Given the description of an element on the screen output the (x, y) to click on. 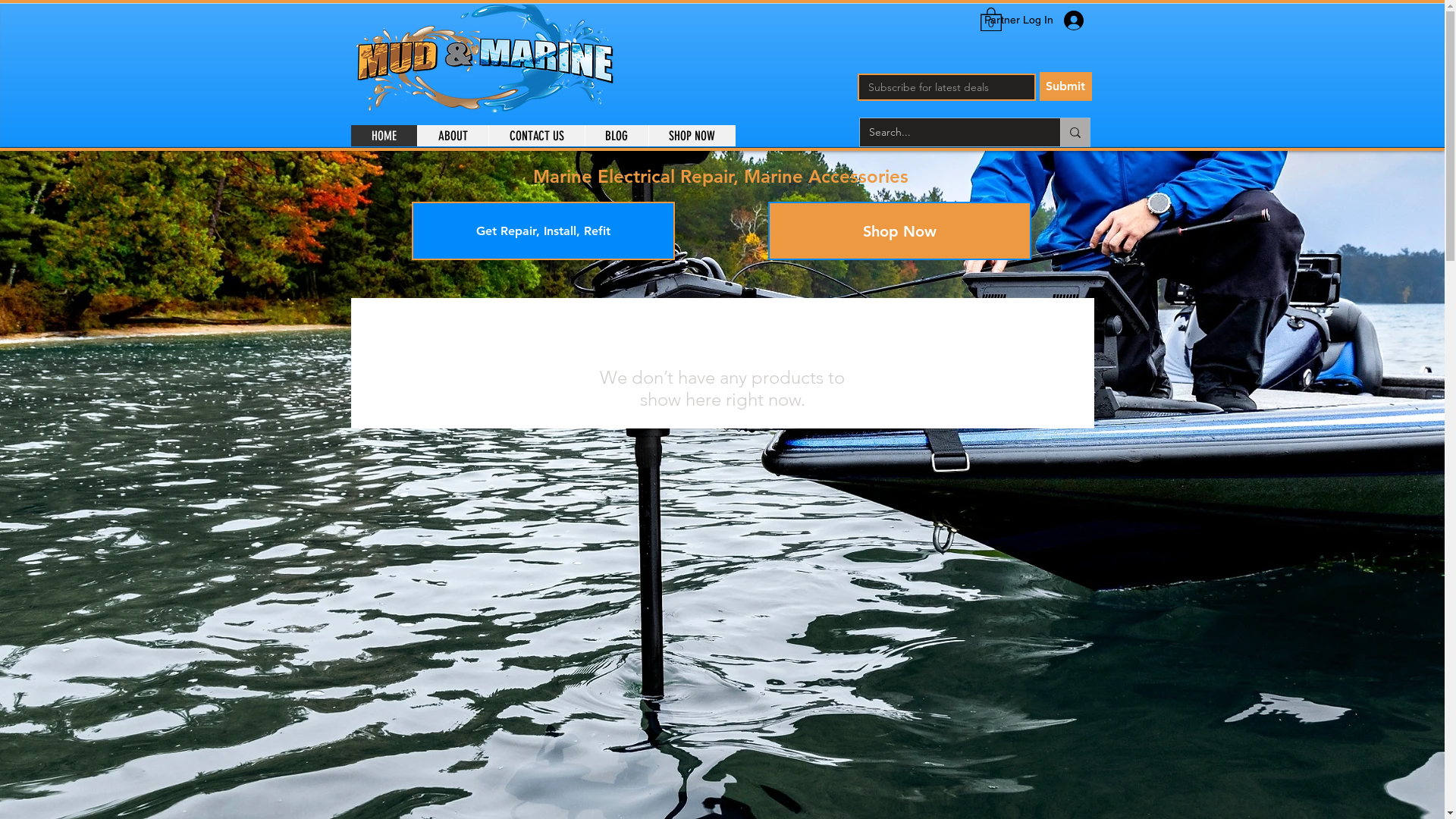
CONTACT US Element type: text (536, 135)
0 Element type: text (990, 18)
SHOP NOW Element type: text (690, 135)
ABOUT Element type: text (452, 135)
Get Repair, Install, Refit Element type: text (542, 230)
HOME Element type: text (383, 135)
Shop Now Element type: text (898, 230)
Submit Element type: text (1064, 86)
BLOG Element type: text (615, 135)
Partner Log In Element type: text (1048, 20)
